Given the description of an element on the screen output the (x, y) to click on. 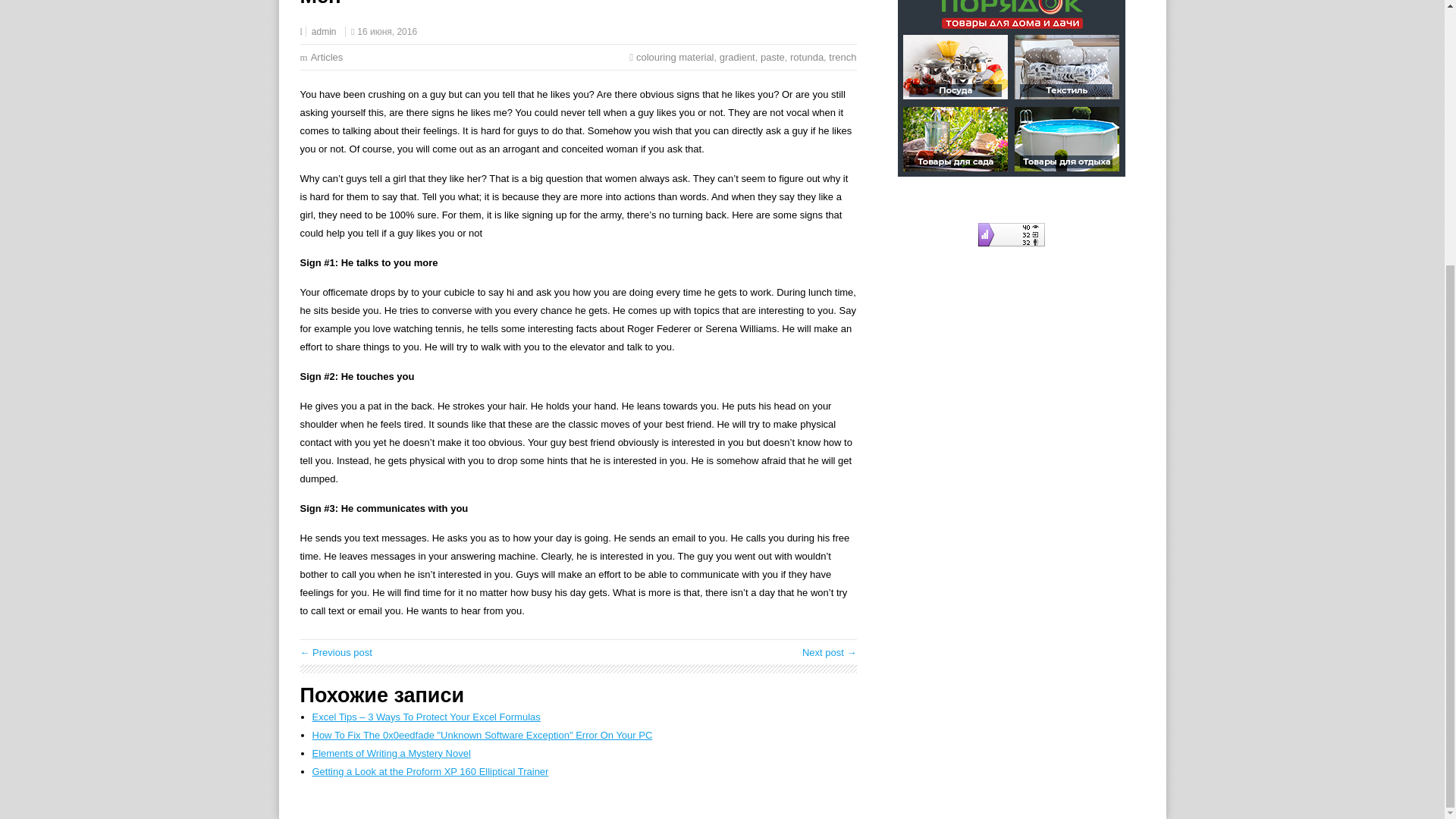
paste (772, 57)
gradient (737, 57)
Articles (327, 57)
rotunda (807, 57)
colouring material (675, 57)
Elements of Writing a Mystery Novel (391, 753)
Getting a Look at the Proform XP 160 Elliptical Trainer (430, 771)
admin (323, 31)
trench (842, 57)
